Given the description of an element on the screen output the (x, y) to click on. 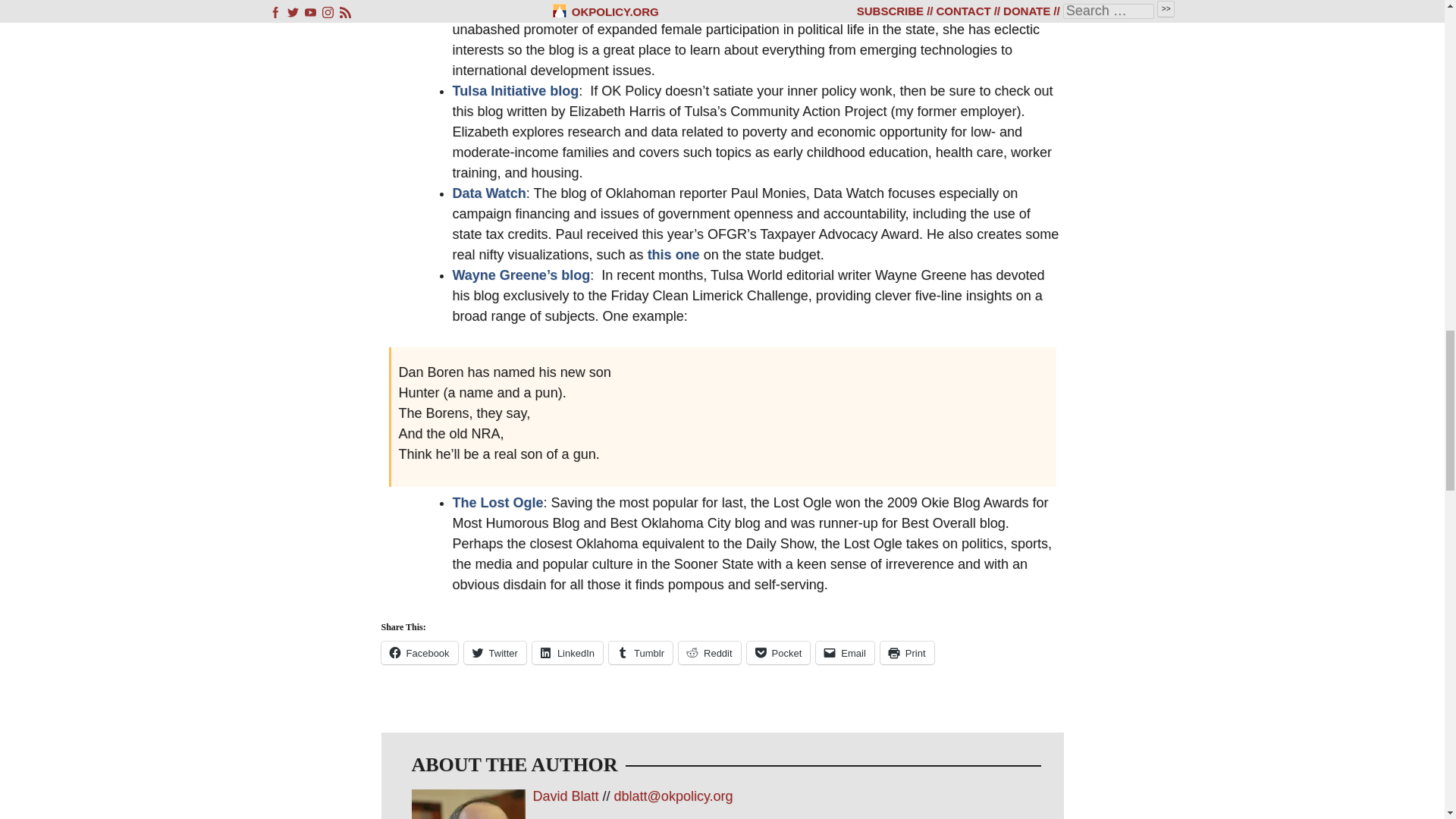
Click to share on Twitter (494, 652)
Click to share on Pocket (778, 652)
Click to share on Tumblr (640, 652)
Click to email a link to a friend (845, 652)
Click to share on LinkedIn (567, 652)
Click to share on Reddit (709, 652)
Click to share on Facebook (418, 652)
Click to print (907, 652)
